Given the description of an element on the screen output the (x, y) to click on. 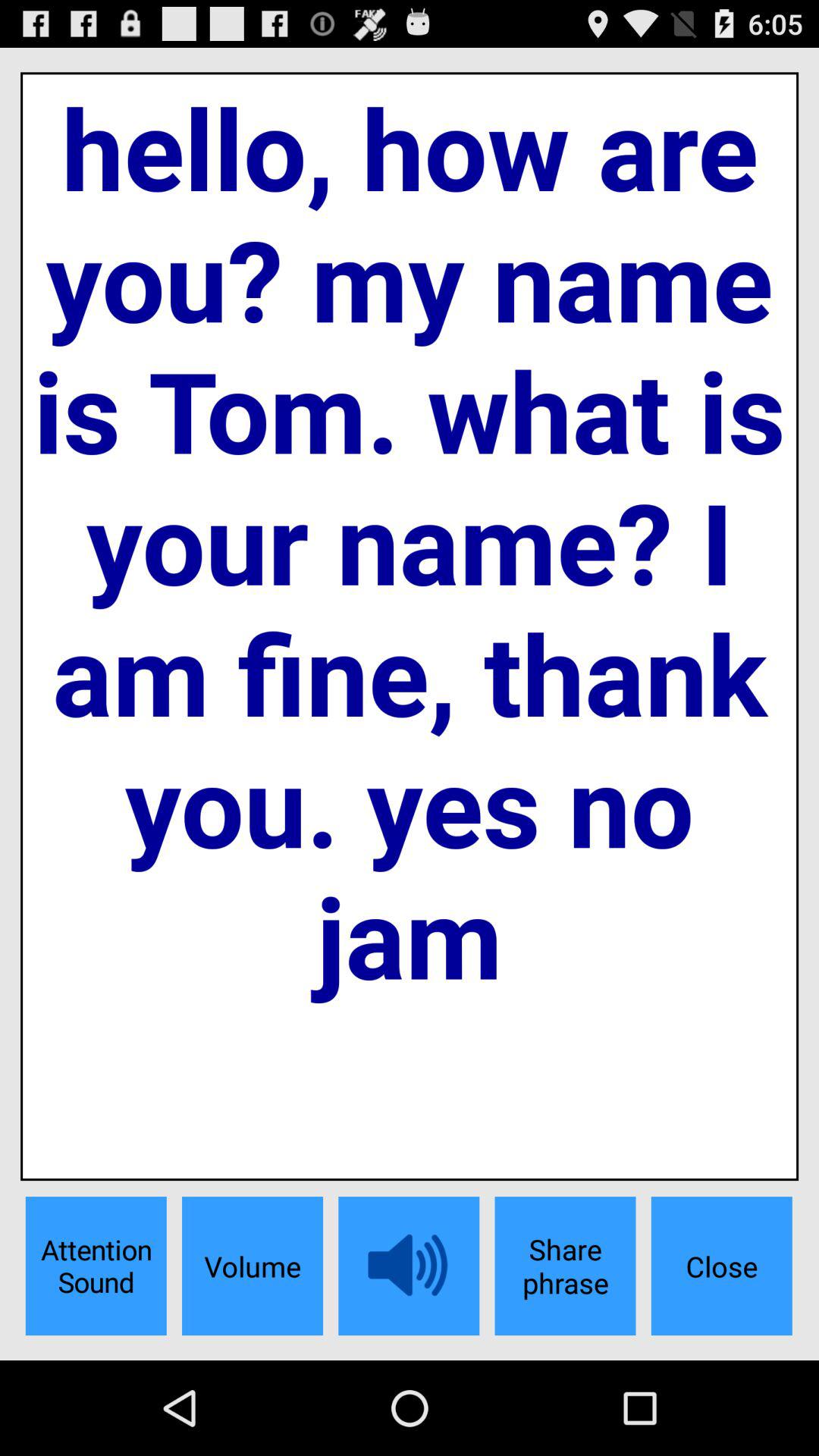
flip until attention sound icon (95, 1265)
